Given the description of an element on the screen output the (x, y) to click on. 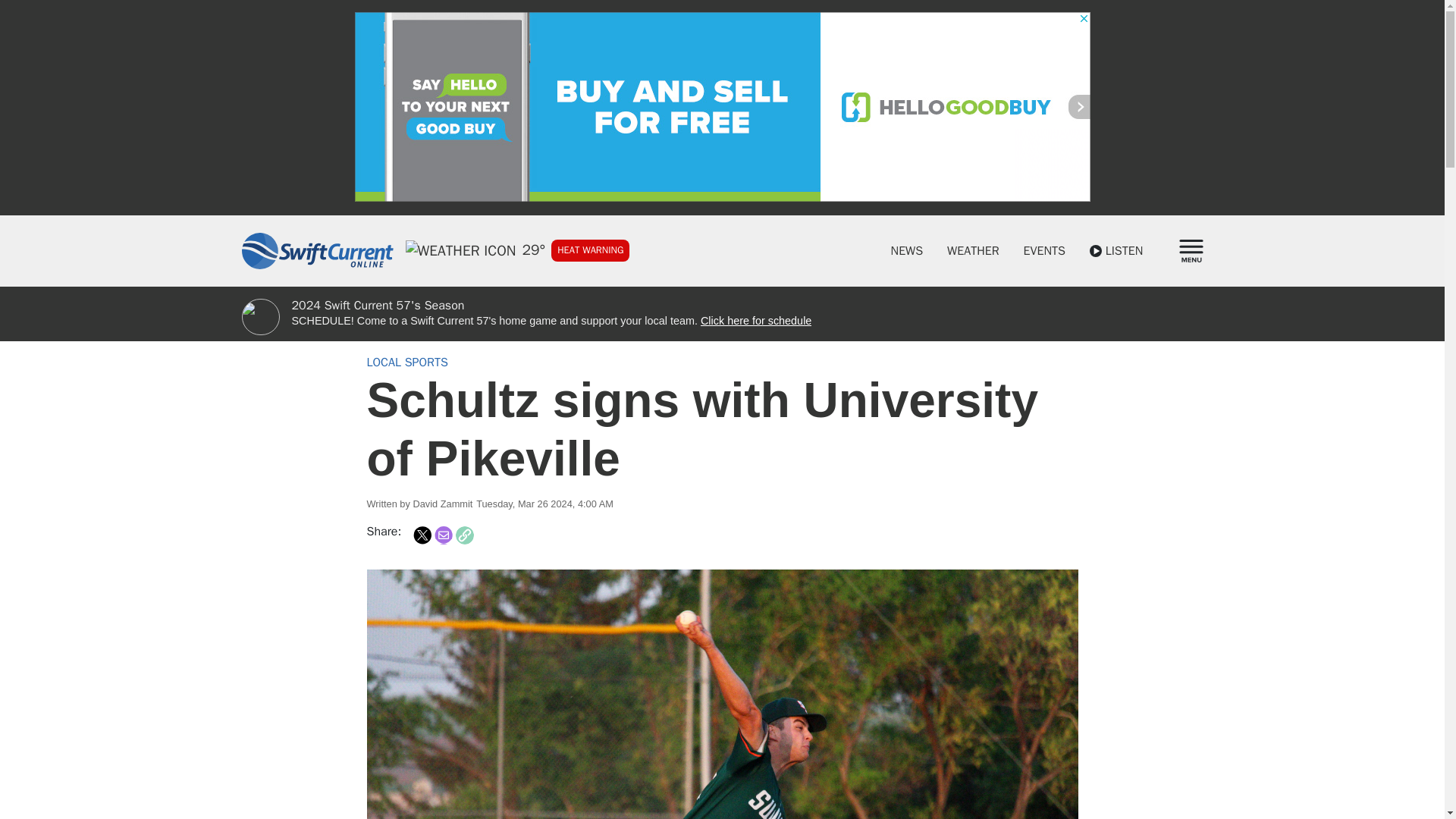
Copy Link (464, 535)
Share to Email (442, 535)
